Given the description of an element on the screen output the (x, y) to click on. 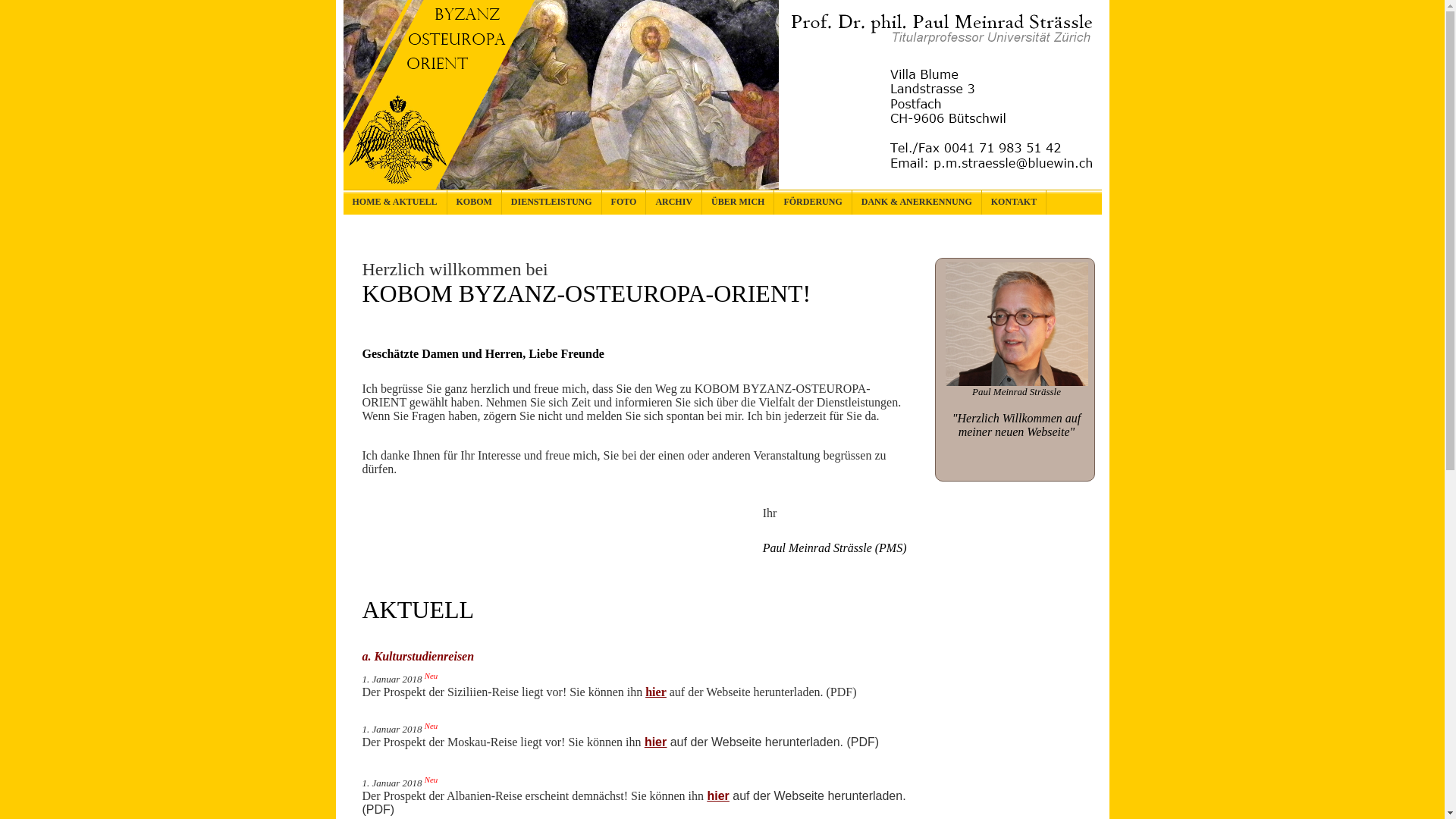
KOBOM Element type: text (474, 201)
hier Element type: text (717, 795)
KONTAKT Element type: text (1014, 201)
hier Element type: text (655, 691)
HOME & AKTUELL Element type: text (394, 201)
hier Element type: text (655, 741)
DANK & ANERKENNUNG Element type: text (917, 201)
FOTO Element type: text (624, 201)
DIENSTLEISTUNG Element type: text (552, 201)
ARCHIV Element type: text (674, 201)
